Given the description of an element on the screen output the (x, y) to click on. 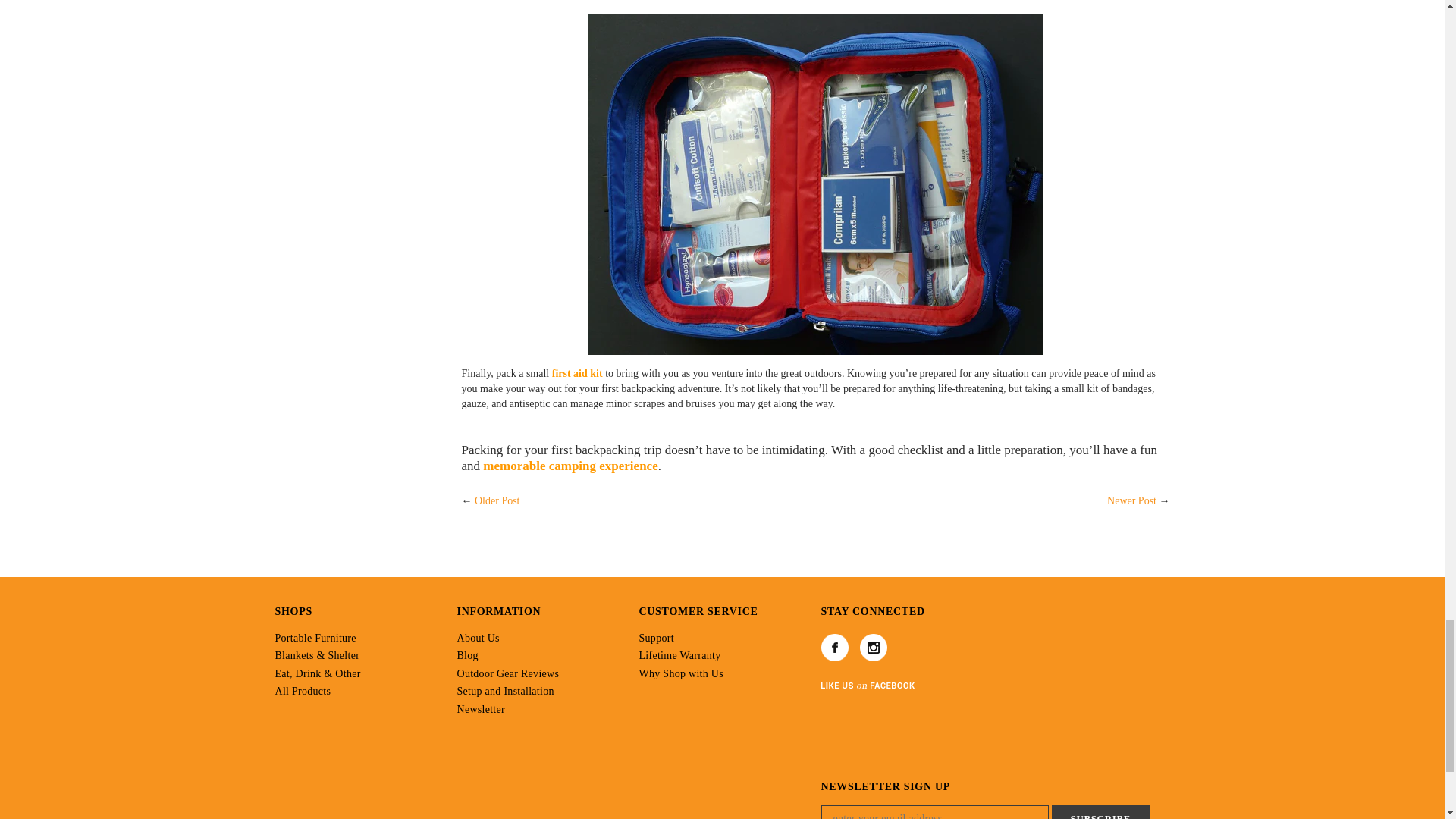
Facebook (834, 646)
Instagram (873, 646)
Subscribe (1100, 812)
